Given the description of an element on the screen output the (x, y) to click on. 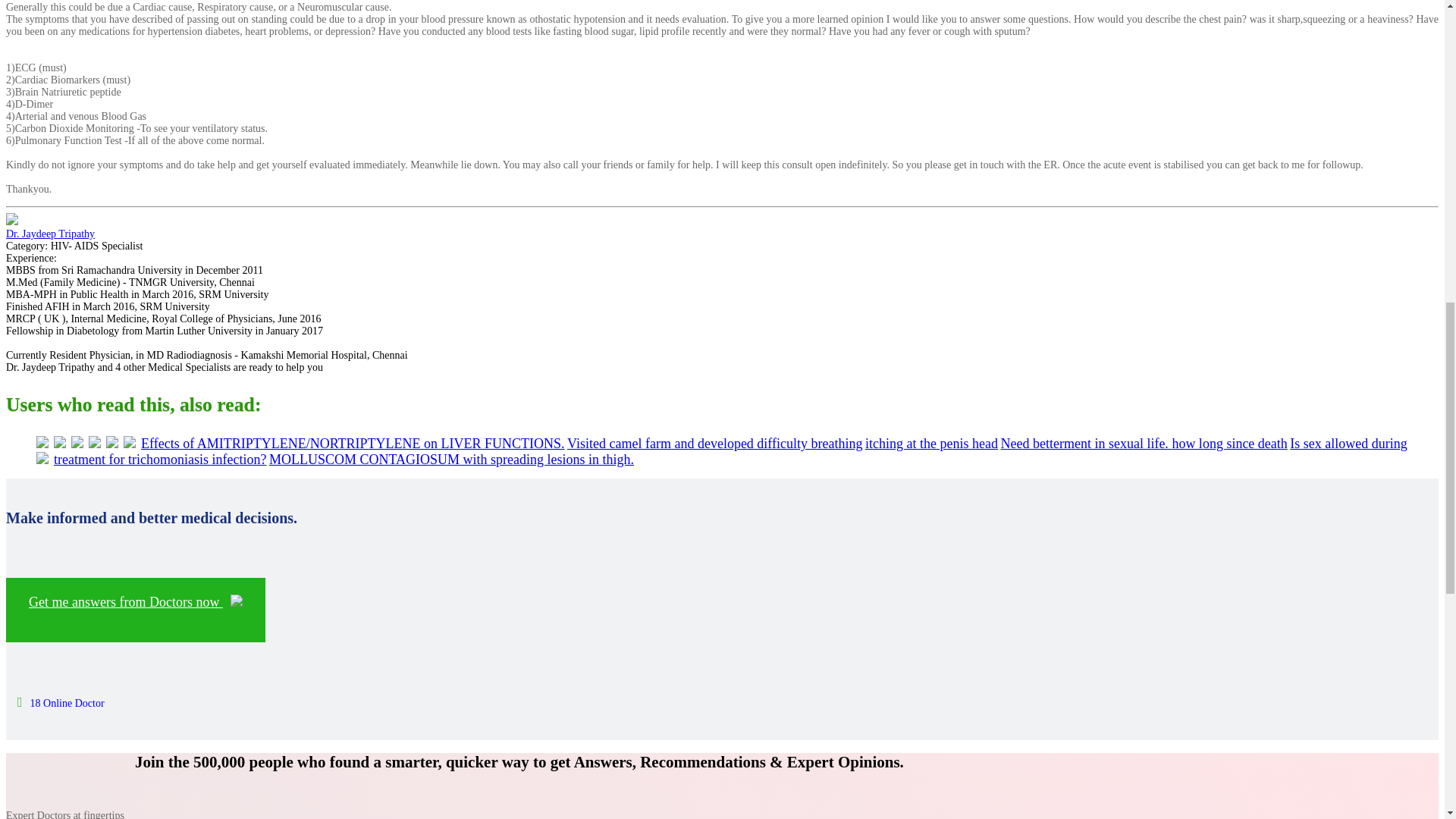
itching at the penis head (930, 443)
MOLLUSCOM CONTAGIOSUM with spreading lesions in thigh. (451, 459)
Get me answers from Doctors now (134, 610)
Dr. Jaydeep Tripathy (49, 233)
18 Online Doctor (60, 703)
Ask a Doctor now (134, 610)
Visited camel farm and developed difficulty breathing (714, 443)
how long since death (1229, 443)
Need betterment in sexual life. (1086, 443)
